Given the description of an element on the screen output the (x, y) to click on. 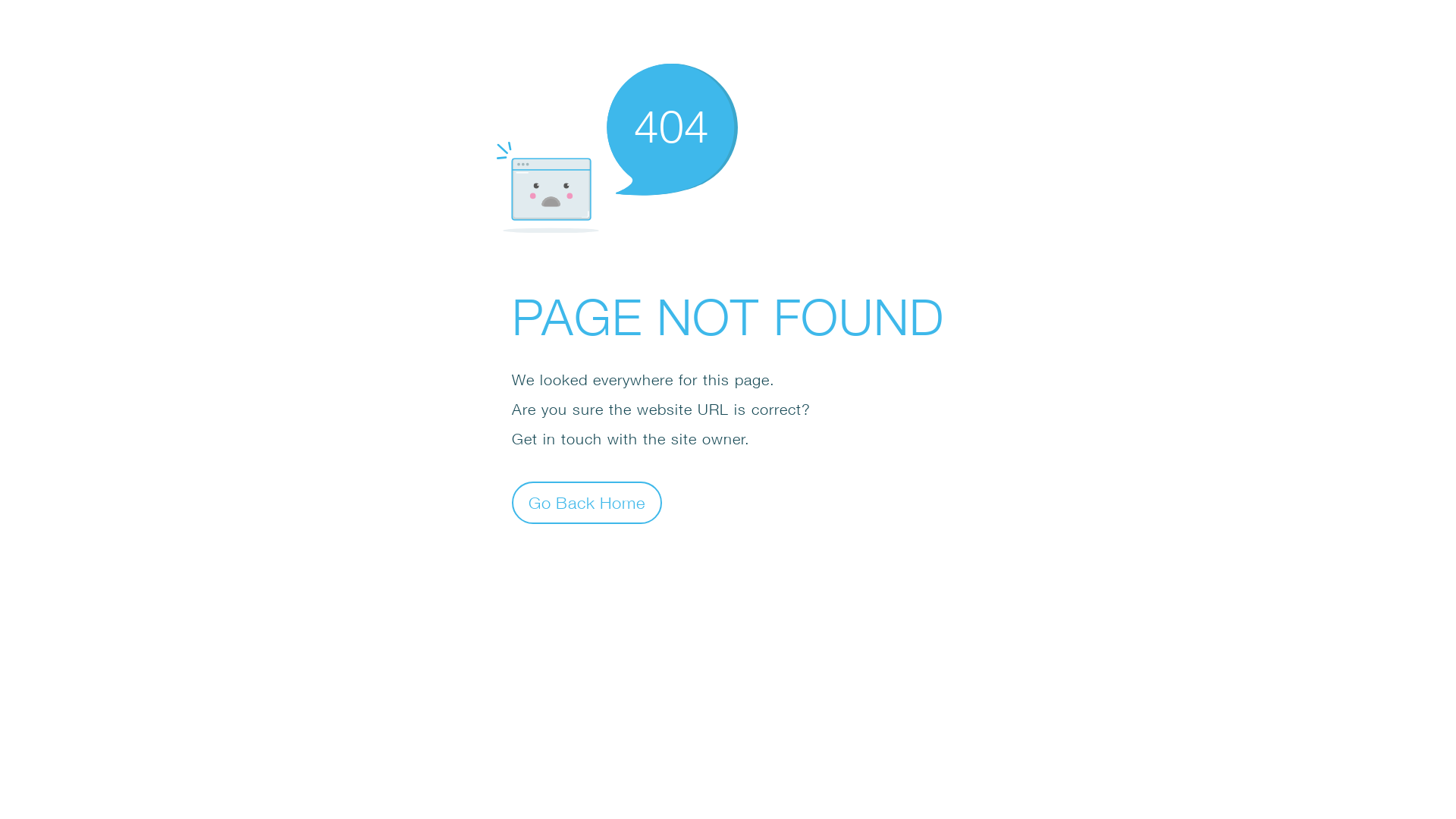
Go Back Home Element type: text (586, 502)
